Given the description of an element on the screen output the (x, y) to click on. 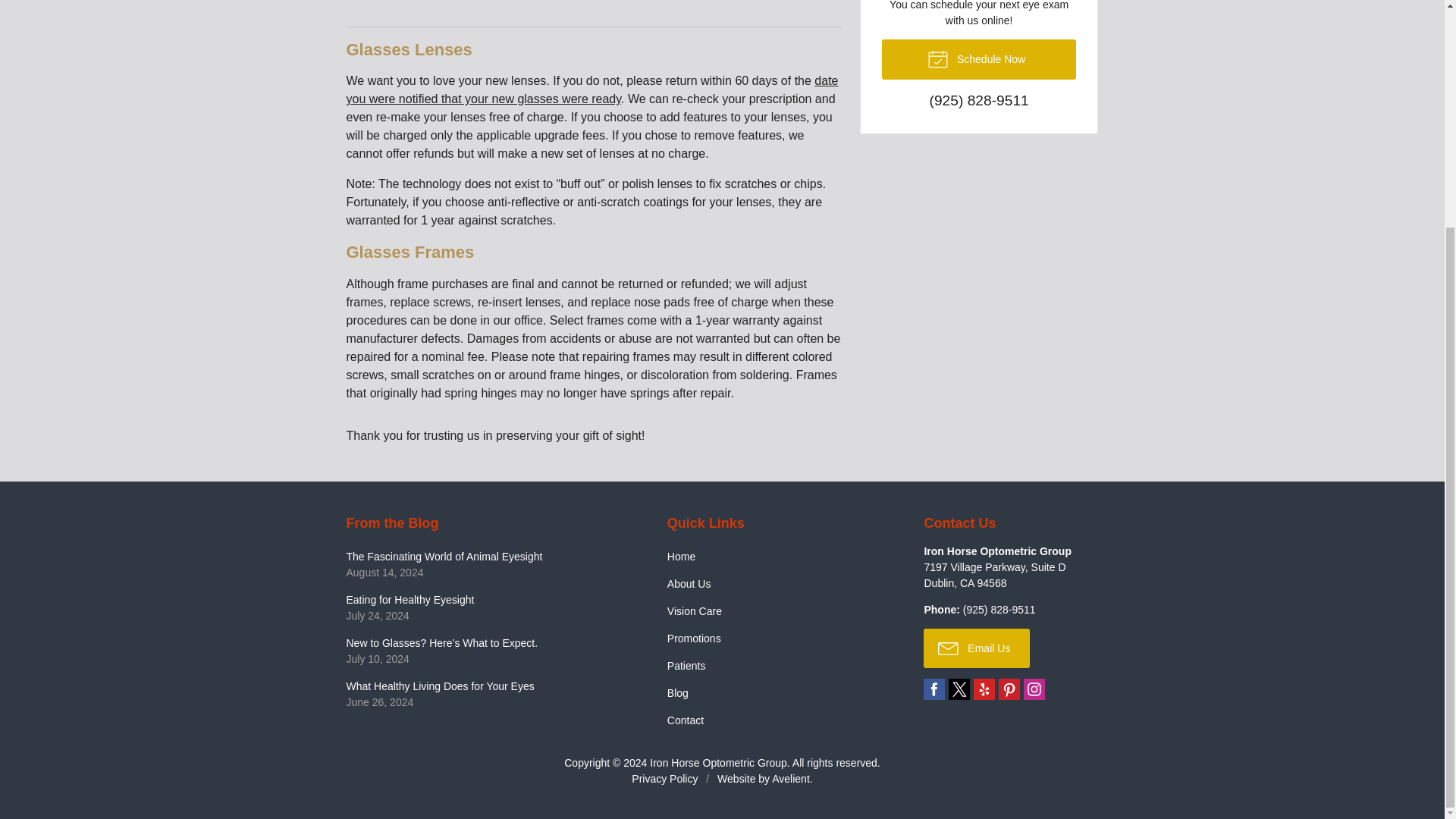
Home (775, 556)
Go to our Yelp Page (485, 694)
Go to our Facebook Page (984, 689)
Schedule Now (933, 689)
Go to our Instagram Page (979, 59)
Call practice (1034, 689)
Open this address in Google Maps (979, 101)
Powered by Avelient (994, 574)
Contact practice (790, 778)
